Given the description of an element on the screen output the (x, y) to click on. 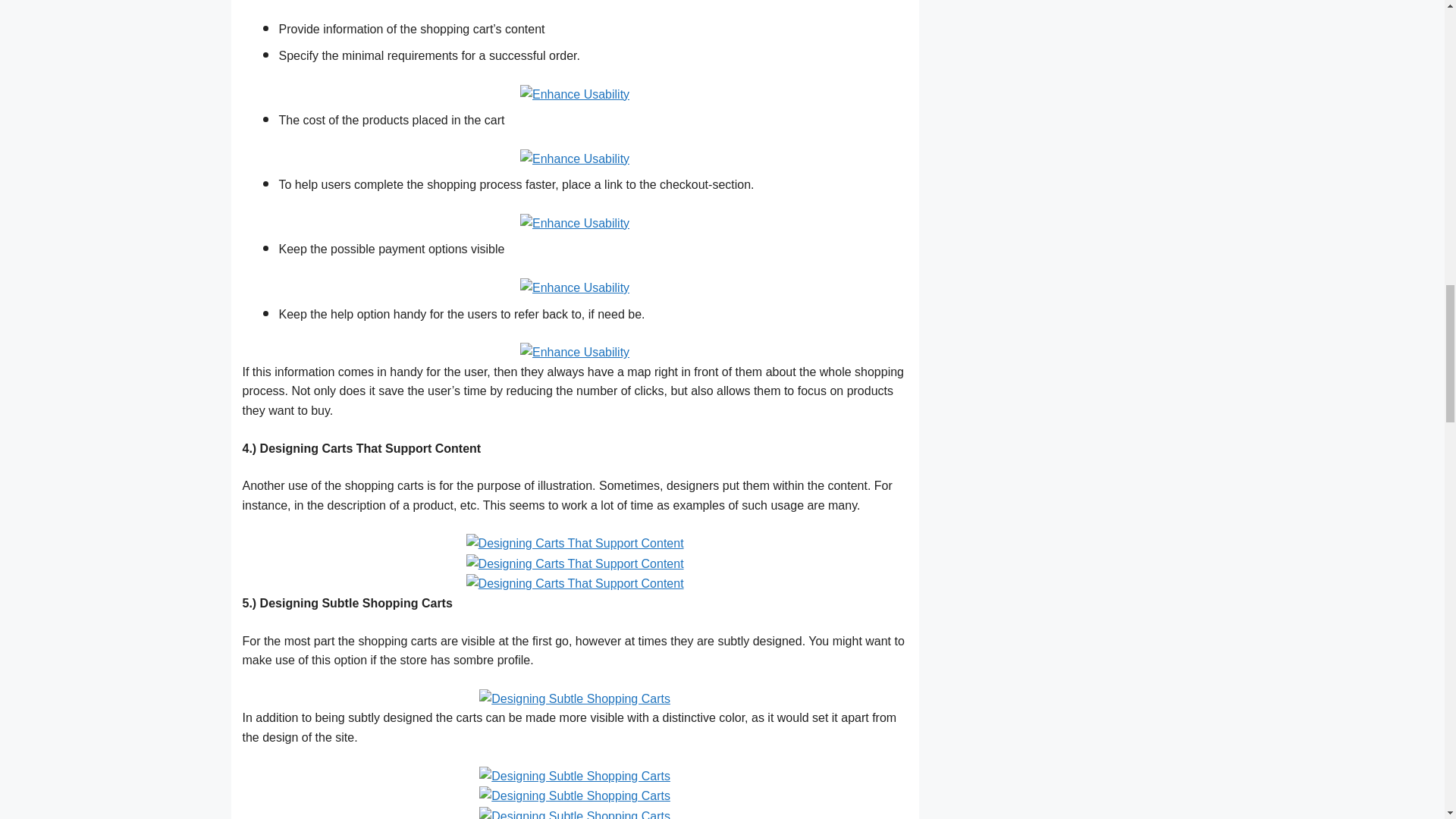
Enhance Usability (573, 222)
Enhance Usability (573, 350)
Enhance Usability (573, 92)
Designing Carts That Support Content (574, 562)
Enhance Usability (573, 286)
Designing Carts That Support Content (574, 542)
Enhance Usability (573, 157)
Designing Carts That Support Content (574, 582)
